Given the description of an element on the screen output the (x, y) to click on. 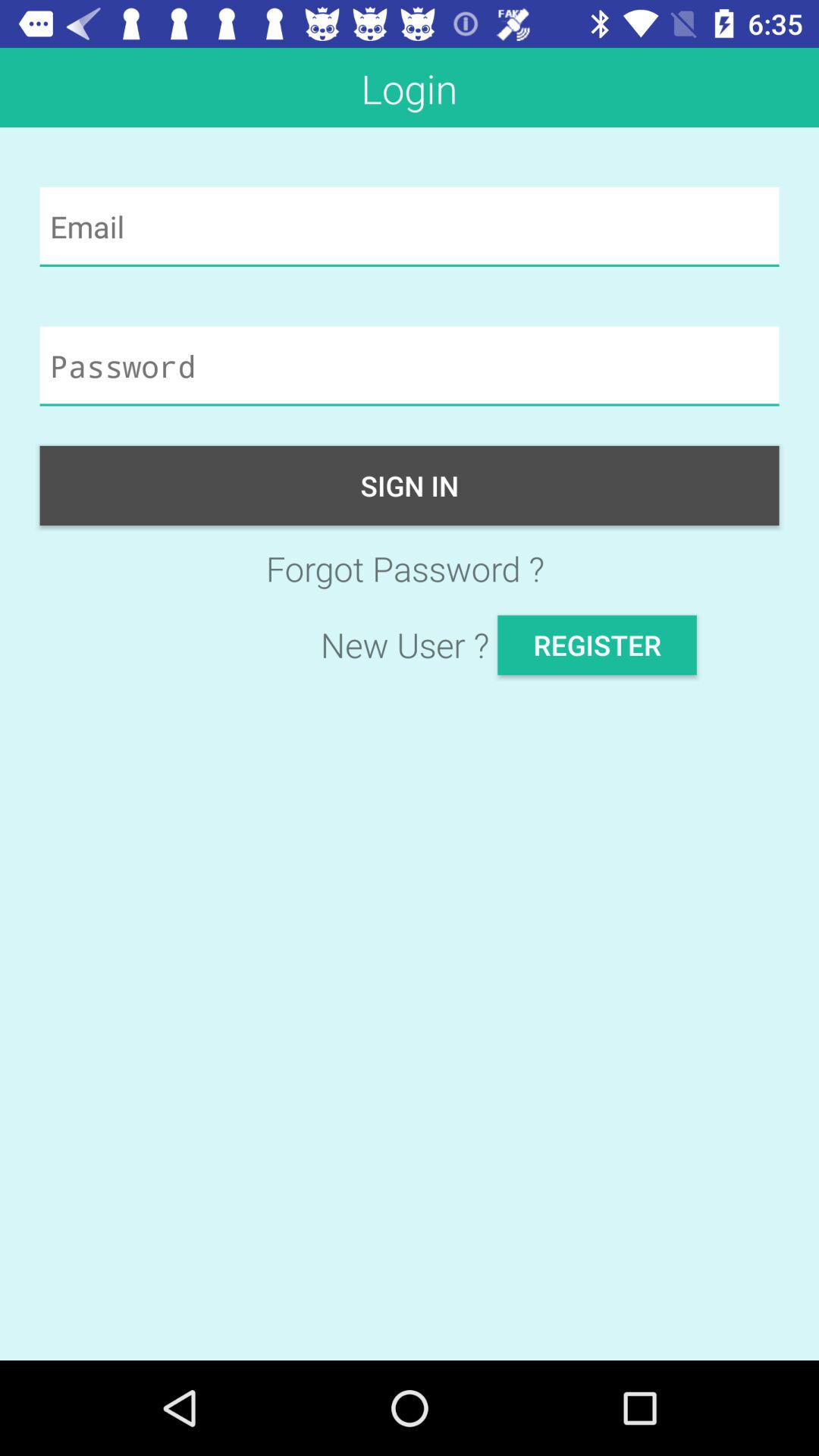
turn on icon above register icon (409, 568)
